Given the description of an element on the screen output the (x, y) to click on. 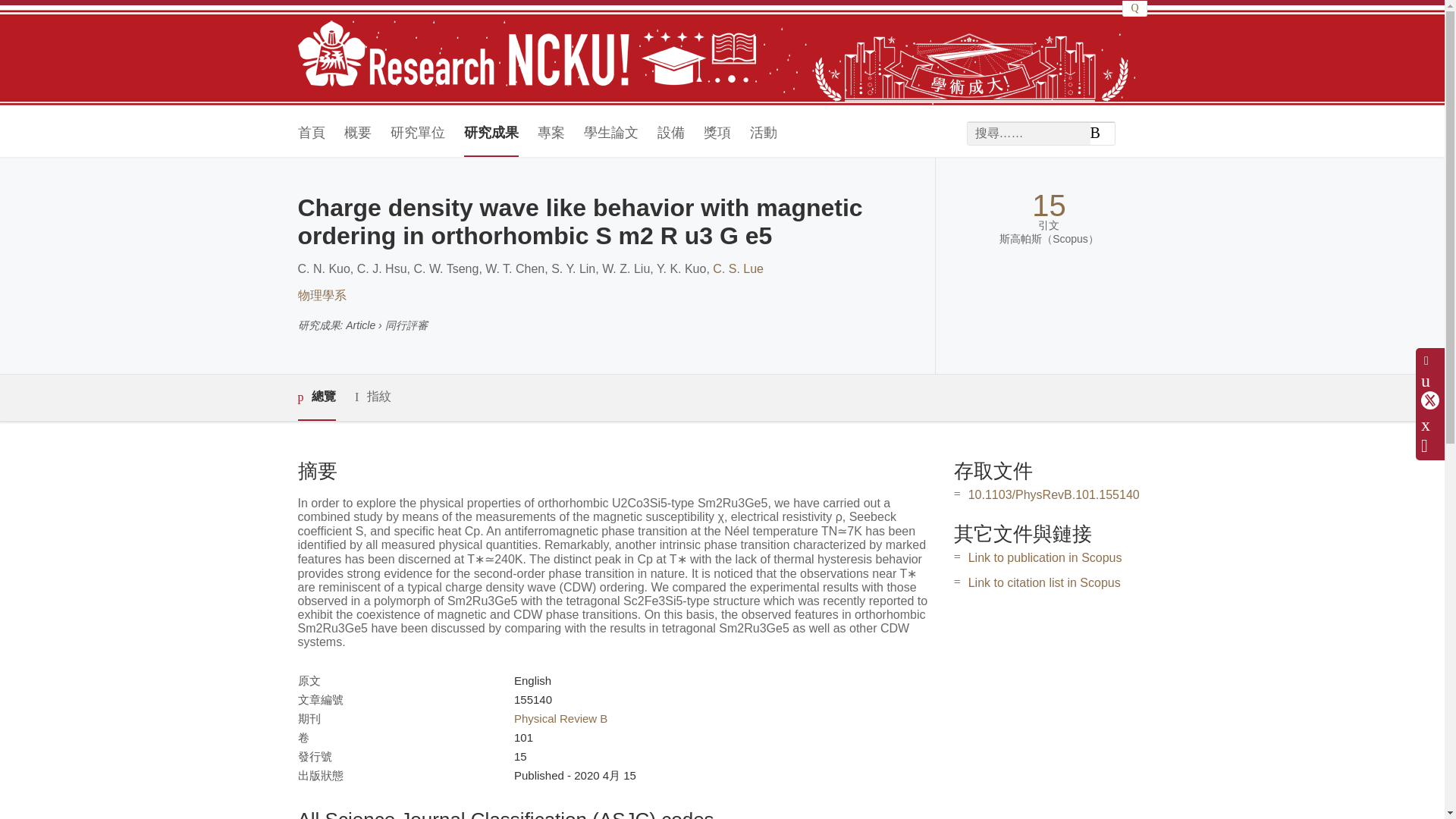
15 (1048, 205)
Link to publication in Scopus (1045, 557)
Physical Review B (560, 717)
Link to citation list in Scopus (1044, 582)
C. S. Lue (737, 268)
